Given the description of an element on the screen output the (x, y) to click on. 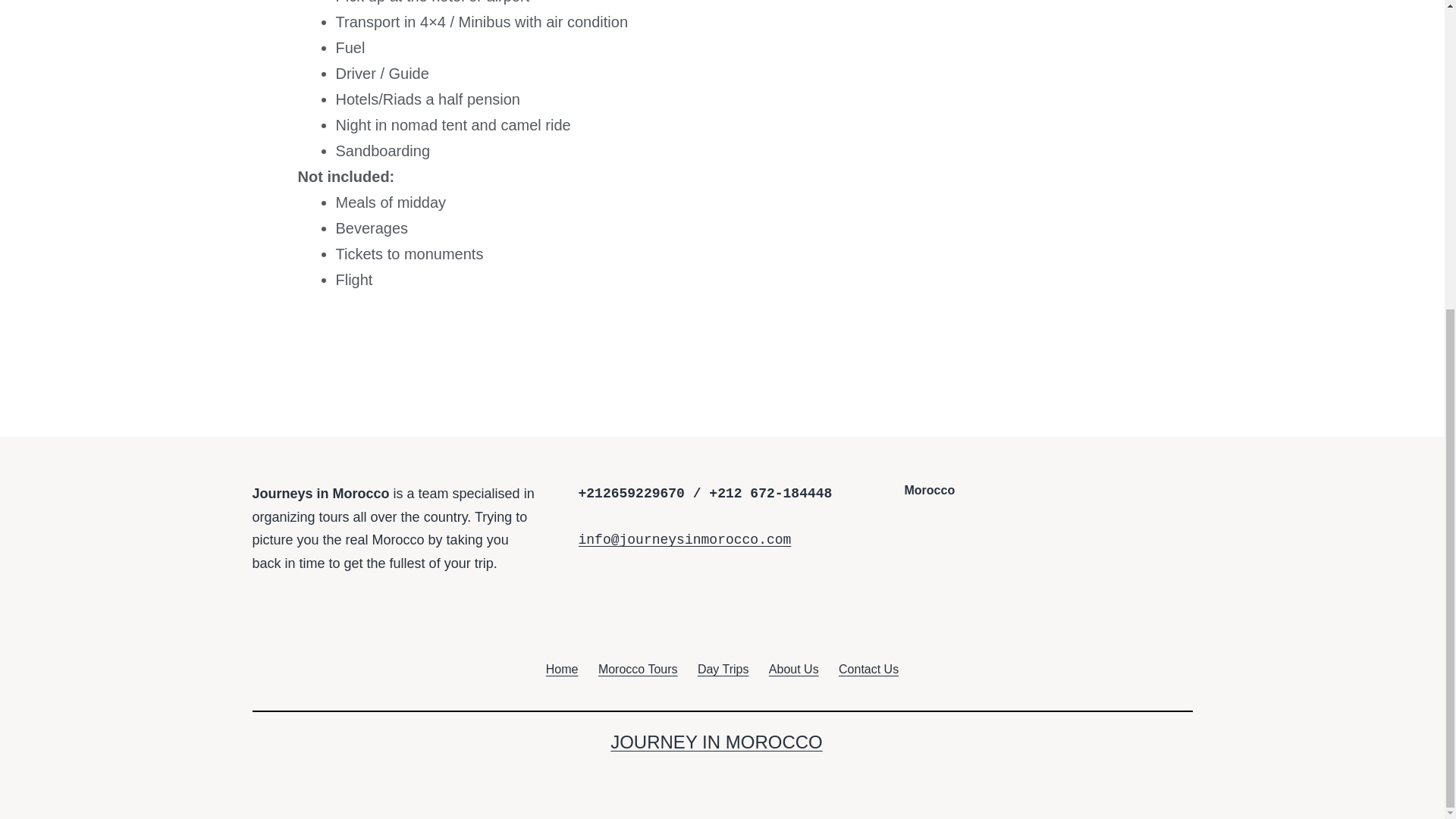
Morocco Tours (637, 668)
JOURNEY IN MOROCCO (716, 742)
Day Trips (722, 668)
About Us (793, 668)
Contact Us (868, 668)
Home (561, 668)
